Given the description of an element on the screen output the (x, y) to click on. 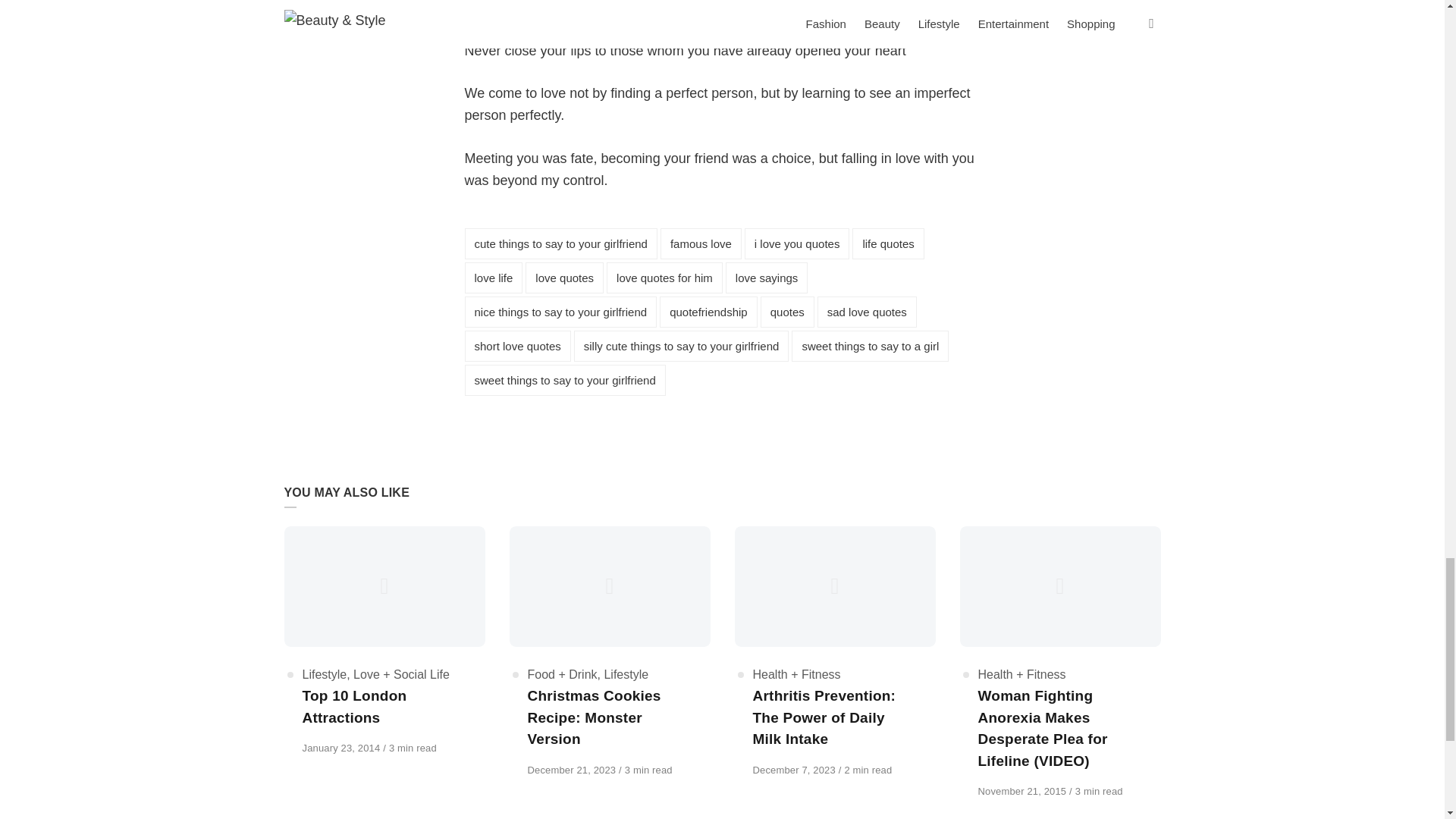
Lifestyle (323, 674)
love sayings (766, 277)
famous love (701, 243)
sweet things to say to a girl (870, 345)
love quotes (564, 277)
silly cute things to say to your girlfriend (681, 345)
sad love quotes (866, 311)
love life (493, 277)
January 23, 2014 (341, 747)
nice things to say to your girlfriend (560, 311)
sweet things to say to your girlfriend (564, 379)
i love you quotes (797, 243)
life quotes (887, 243)
cute things to say to your girlfriend (560, 243)
love quotes for him (664, 277)
